Given the description of an element on the screen output the (x, y) to click on. 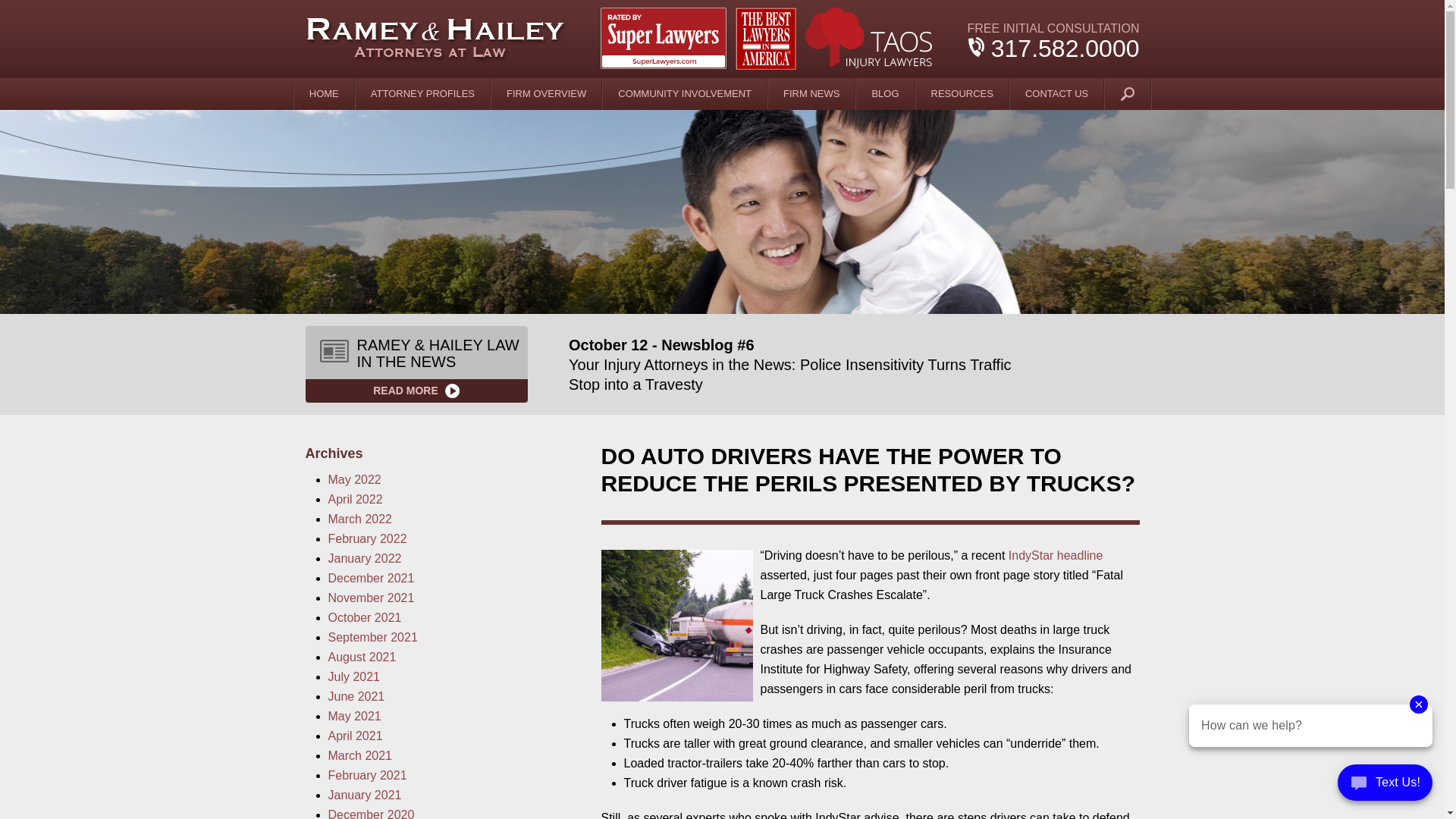
FIRM OVERVIEW (547, 93)
HOME (324, 93)
Truck and Car crash accident (675, 625)
RESOURCES (962, 93)
ATTORNEY PROFILES (422, 93)
COMMUNITY INVOLVEMENT (684, 93)
IndyStar headline (1056, 554)
CONTACT US (1056, 93)
FIRM NEWS (812, 93)
BLOG (885, 93)
